Given the description of an element on the screen output the (x, y) to click on. 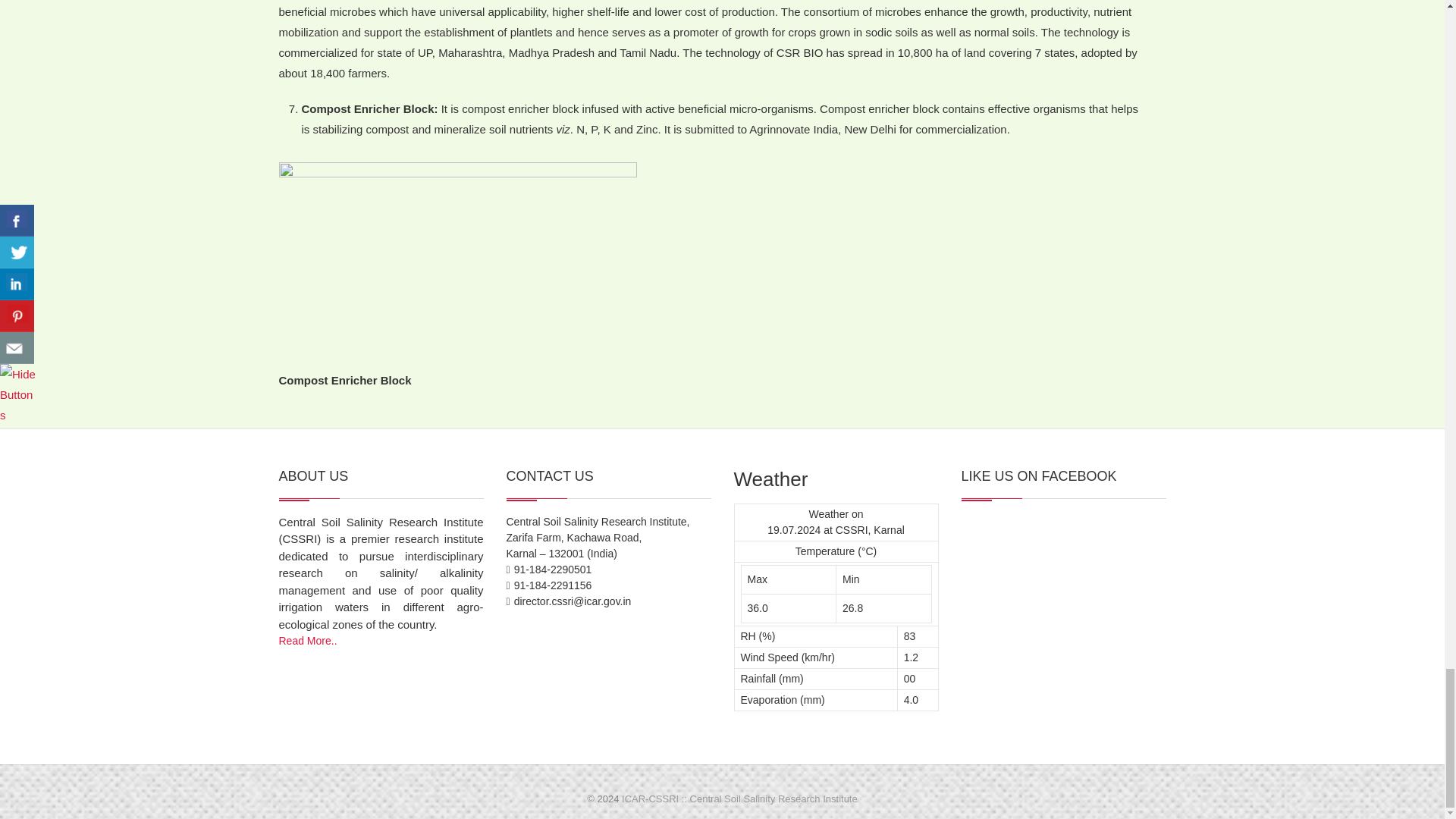
ICAR-CSSRI :: Central Soil Salinity Research Institute (739, 798)
